Given the description of an element on the screen output the (x, y) to click on. 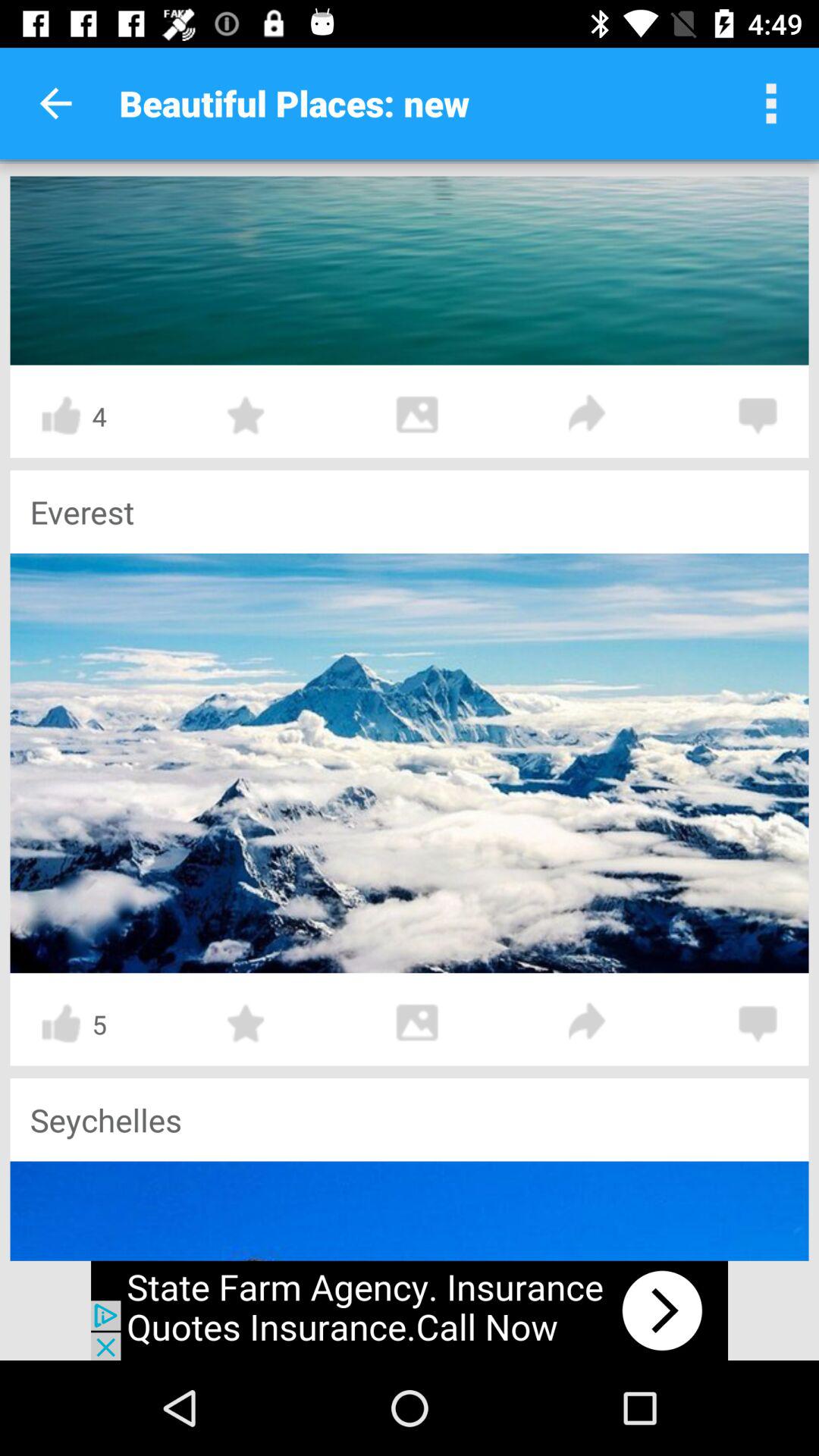
add the image to favorites (246, 1023)
